Given the description of an element on the screen output the (x, y) to click on. 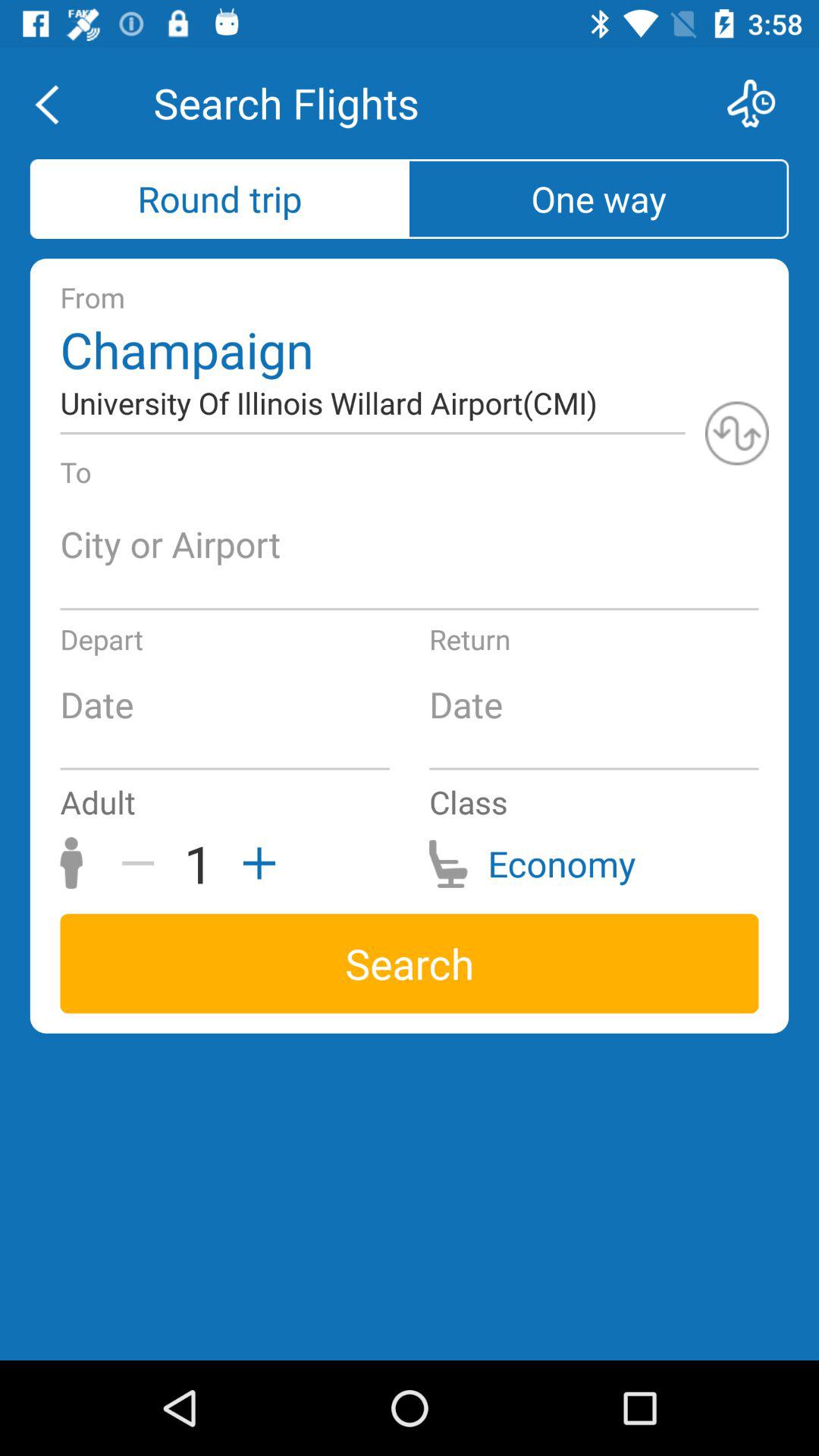
refresh (736, 433)
